Given the description of an element on the screen output the (x, y) to click on. 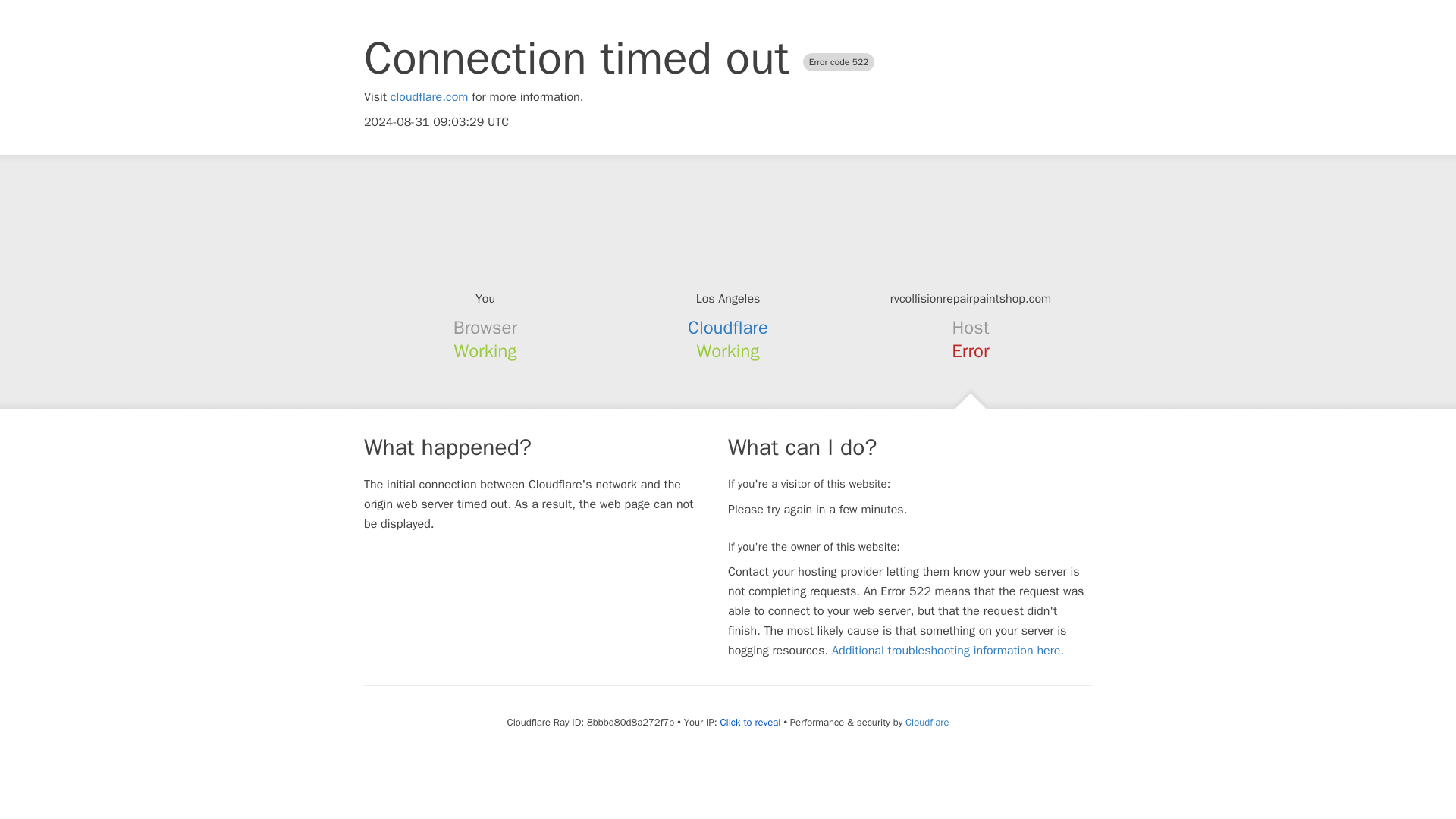
Cloudflare (727, 327)
Additional troubleshooting information here. (947, 650)
Cloudflare (927, 721)
Click to reveal (750, 722)
cloudflare.com (429, 96)
